Given the description of an element on the screen output the (x, y) to click on. 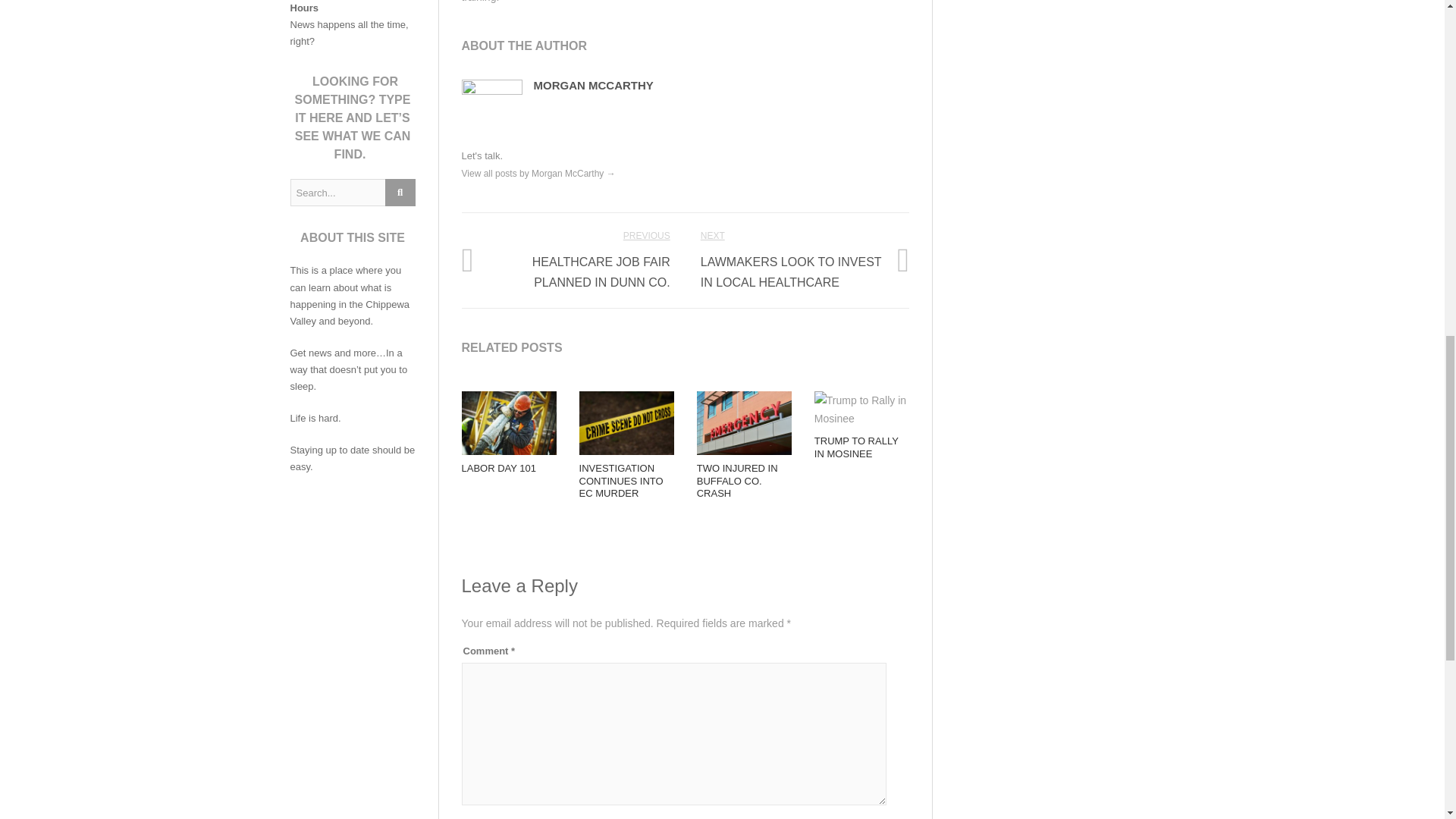
LABOR DAY 101 (498, 468)
TRUMP TO RALLY IN MOSINEE (855, 446)
LAWMAKERS LOOK TO INVEST IN LOCAL HEALTHCARE (791, 272)
MORGAN MCCARTHY (593, 84)
INVESTIGATION CONTINUES INTO EC MURDER (621, 480)
TWO INJURED IN BUFFALO CO. CRASH (737, 480)
HEALTHCARE JOB FAIR PLANNED IN DUNN CO. (600, 272)
